Given the description of an element on the screen output the (x, y) to click on. 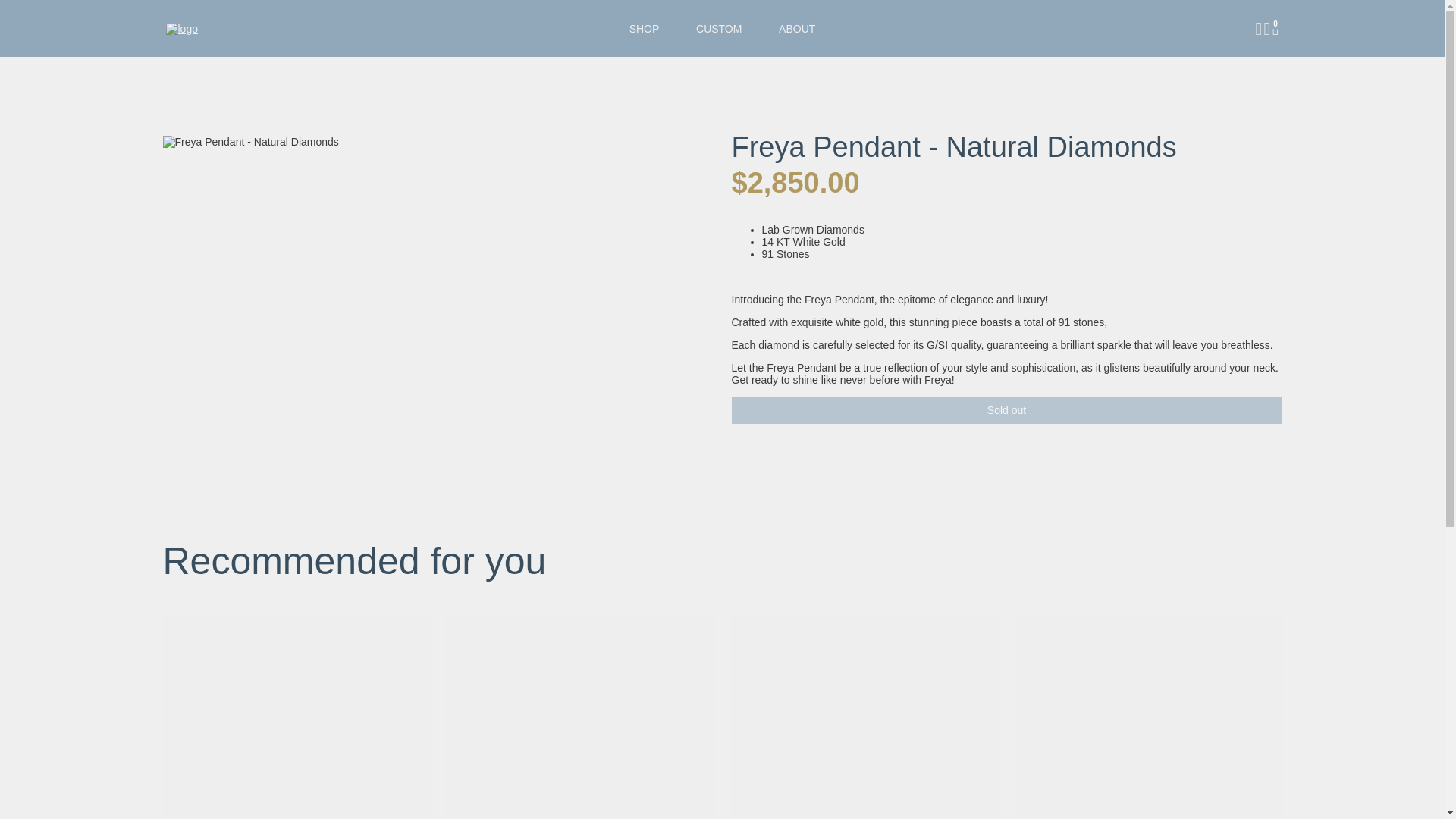
Sold out (1005, 410)
CUSTOM (719, 28)
SHOP (644, 28)
ABOUT (795, 28)
